Given the description of an element on the screen output the (x, y) to click on. 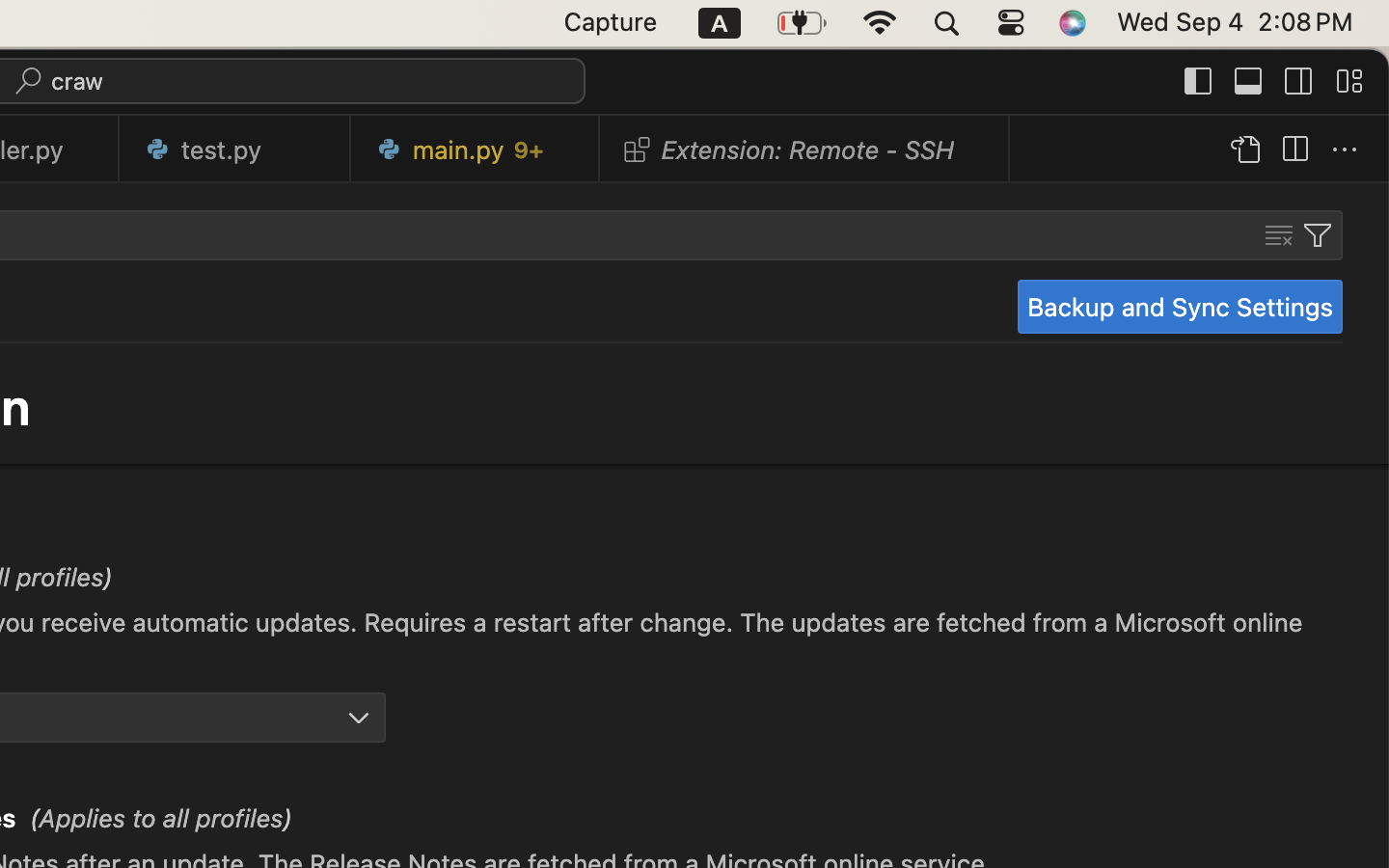
 Element type: AXButton (1349, 80)
 Element type: AXCheckBox (1248, 80)
 Element type: AXStaticText (1344, 150)
craw Element type: AXStaticText (78, 80)
 Element type: AXCheckBox (1198, 80)
